Given the description of an element on the screen output the (x, y) to click on. 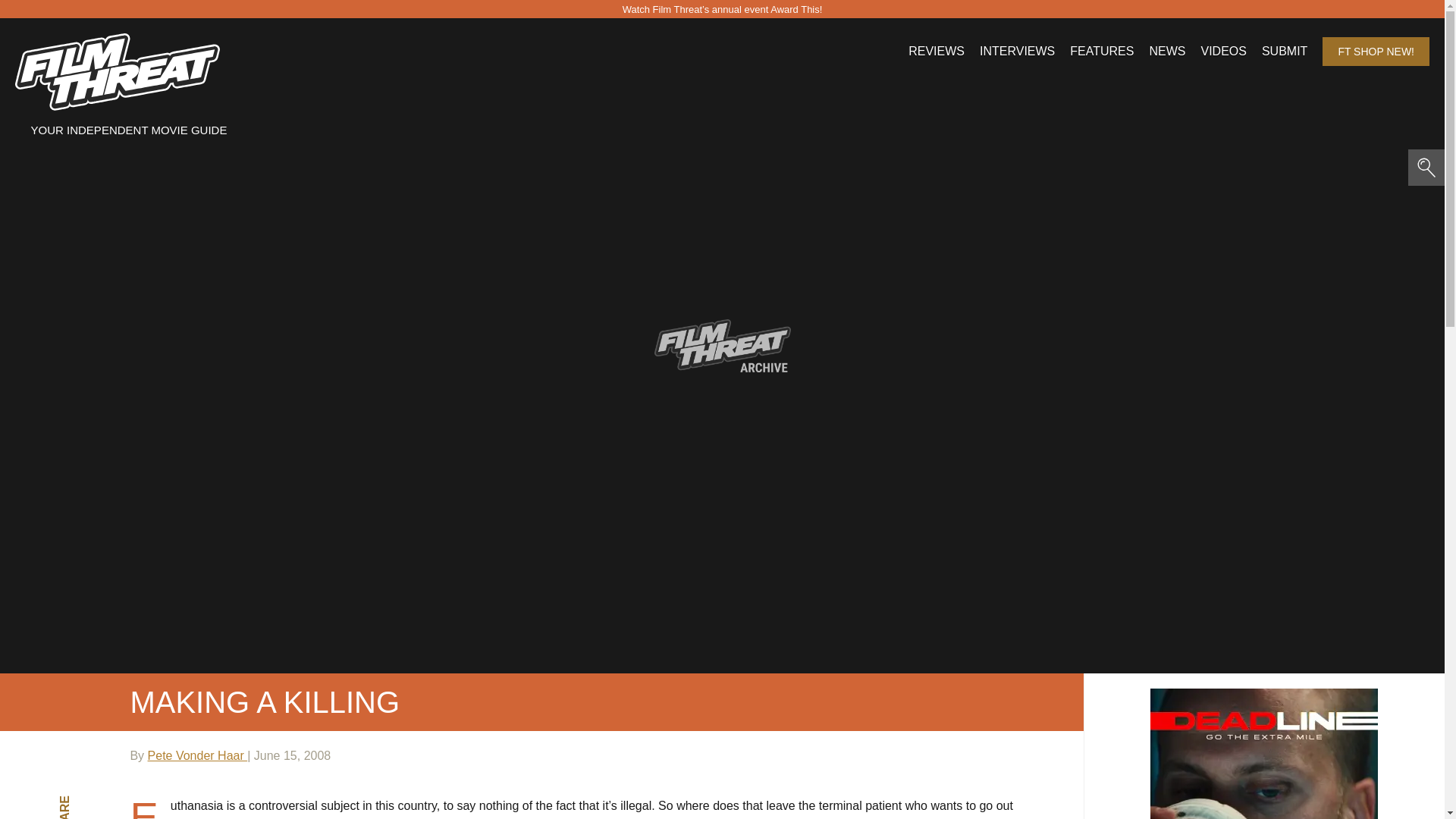
VIDEOS (1222, 51)
REVIEWS (935, 51)
SUBMIT (1284, 51)
Pete Vonder Haar (197, 755)
FT SHOP NEW! (1375, 51)
FEATURES (1102, 51)
INTERVIEWS (1016, 51)
NEWS (1166, 51)
Search (152, 24)
